Given the description of an element on the screen output the (x, y) to click on. 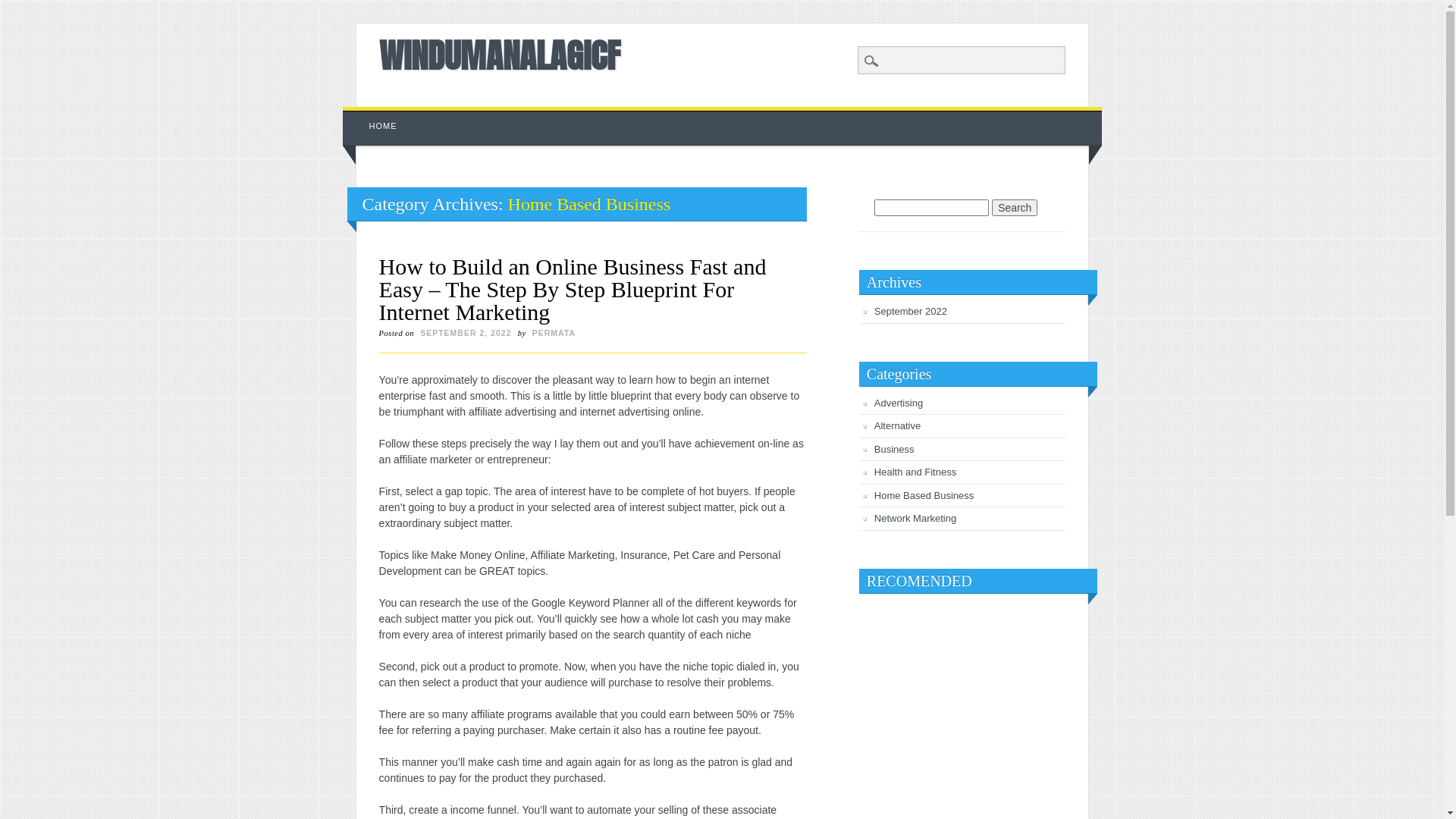
Business Element type: text (894, 449)
Skip to content Element type: text (377, 114)
Search Element type: text (1014, 207)
Health and Fitness Element type: text (915, 471)
Alternative Element type: text (897, 425)
September 2022 Element type: text (910, 310)
SEPTEMBER 2, 2022 Element type: text (465, 332)
Advertising Element type: text (898, 402)
Home Based Business Element type: text (924, 495)
PERMATA Element type: text (553, 332)
Network Marketing Element type: text (915, 518)
Search Element type: text (22, 8)
HOME Element type: text (383, 125)
WINDUMANALAGICF Element type: text (499, 55)
